Given the description of an element on the screen output the (x, y) to click on. 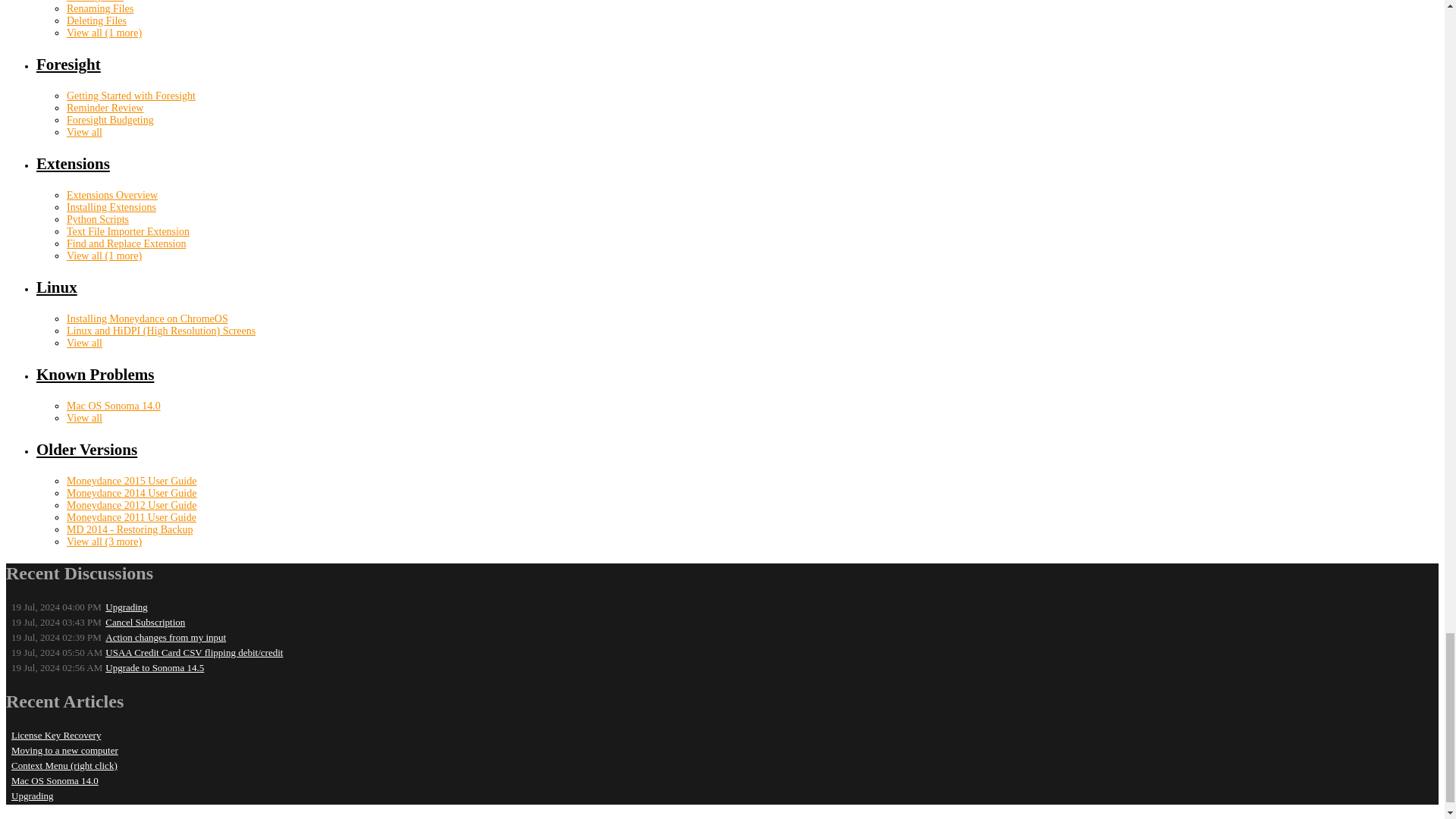
19 Jul, 2024 03:43 PM (56, 622)
19 Jul, 2024 02:56 AM (56, 667)
19 Jul, 2024 04:00 PM (56, 606)
19 Jul, 2024 05:50 AM (56, 652)
19 Jul, 2024 02:39 PM (56, 636)
